Given the description of an element on the screen output the (x, y) to click on. 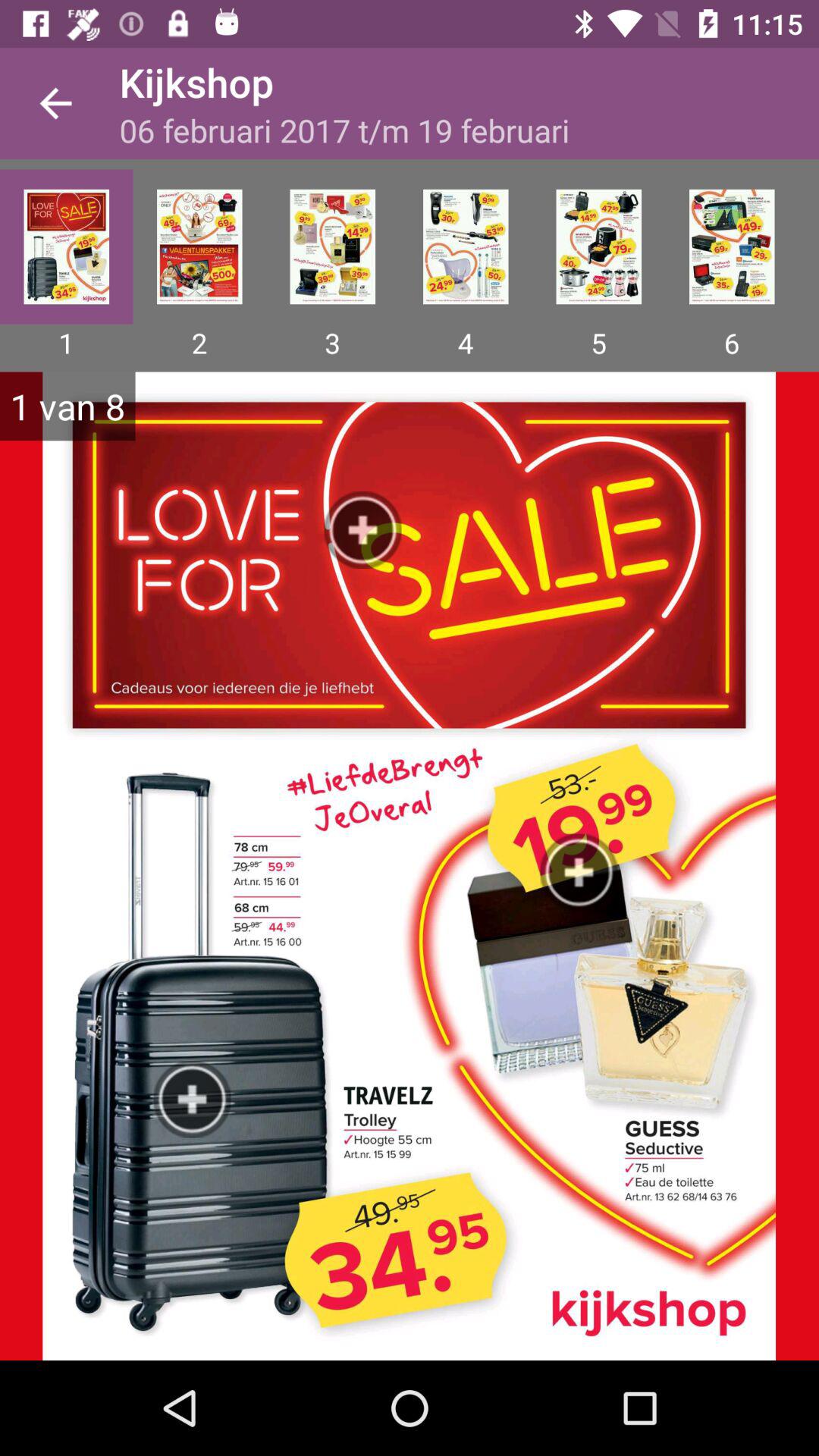
go to that page (332, 246)
